Given the description of an element on the screen output the (x, y) to click on. 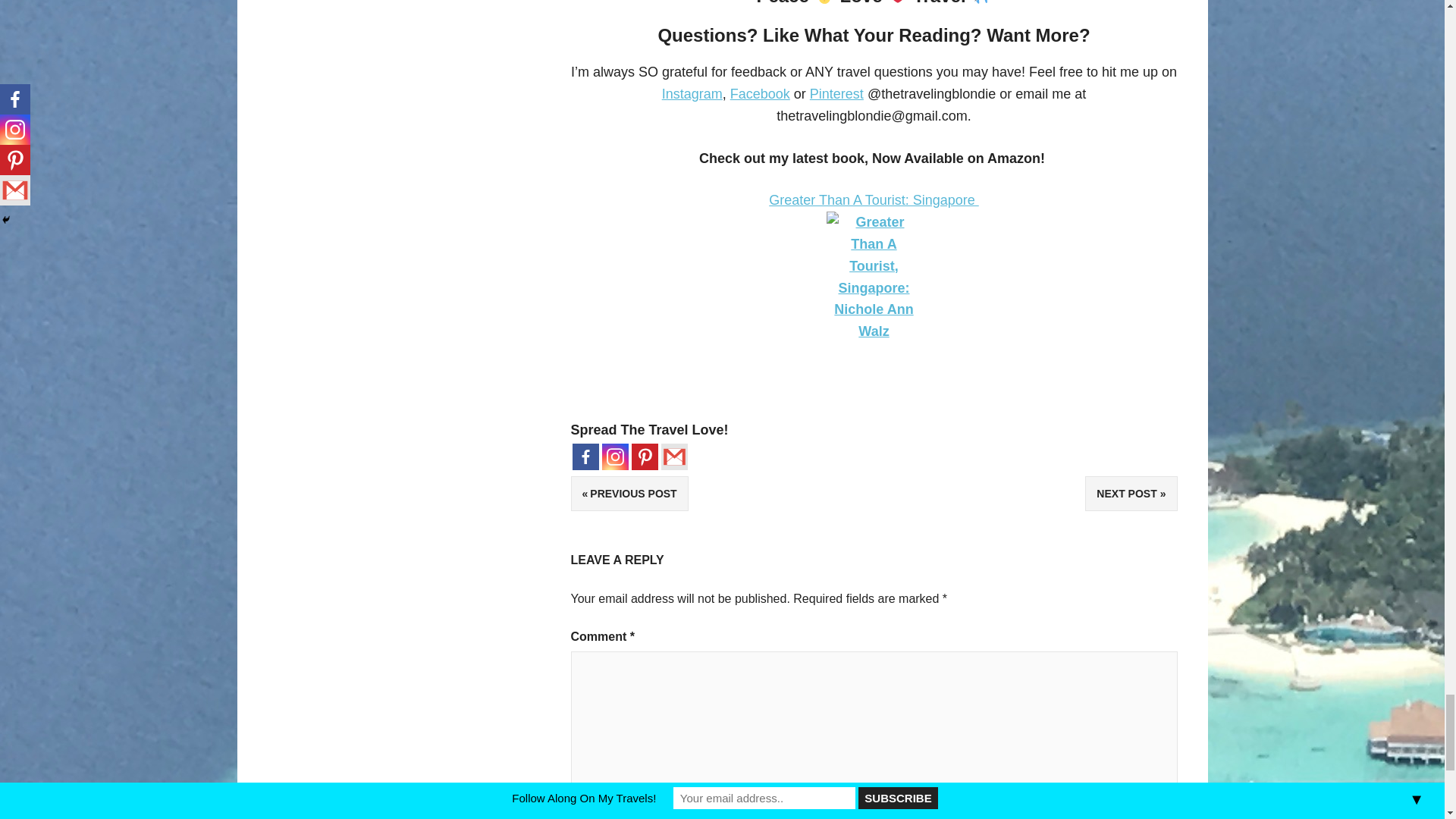
Google Gmail (674, 456)
Greater Than A Tourist, Singapore: Nichole Ann Walz  (874, 287)
Instagram (615, 456)
Pinterest (644, 456)
Facebook (585, 456)
